Given the description of an element on the screen output the (x, y) to click on. 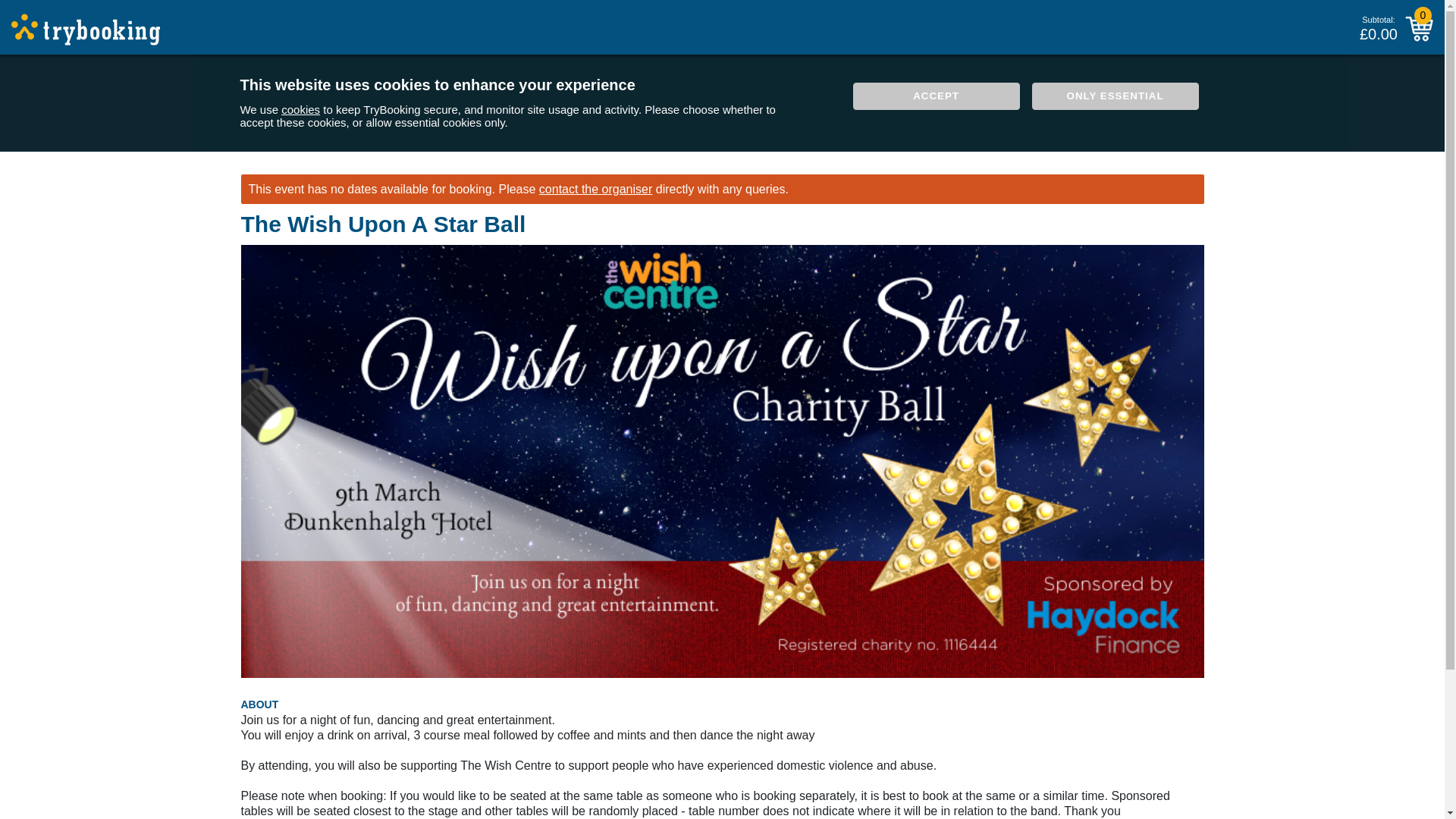
TryBooking (85, 29)
contact the organiser (595, 188)
cookies (300, 109)
ONLY ESSENTIAL (1115, 95)
ACCEPT (936, 95)
